Given the description of an element on the screen output the (x, y) to click on. 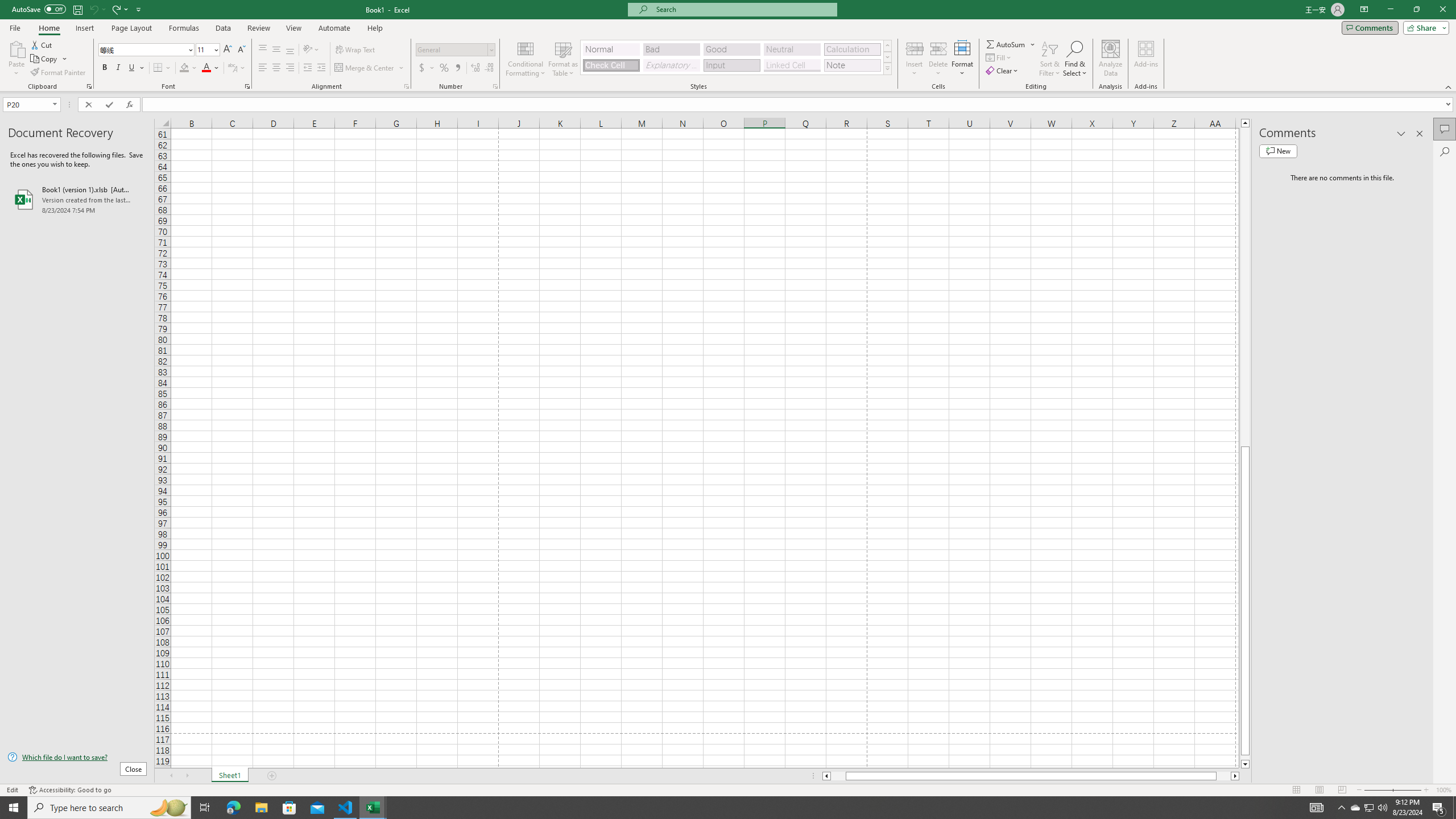
Borders (162, 67)
Cut (42, 44)
Percent Style (443, 67)
Input (731, 65)
Find & Select (1075, 58)
Paste (16, 48)
Bottom Align (290, 49)
Underline (131, 67)
